Given the description of an element on the screen output the (x, y) to click on. 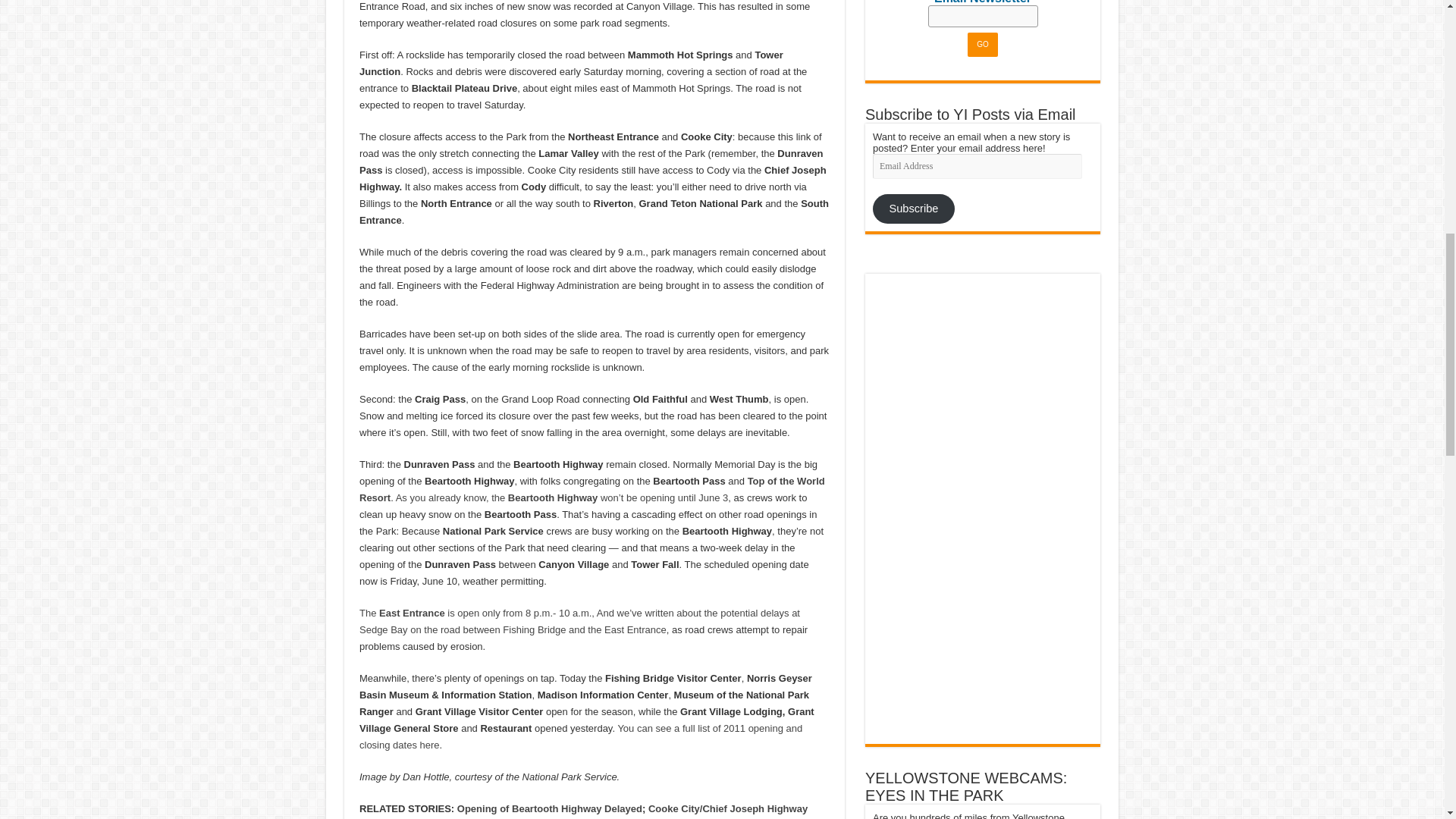
GO (982, 44)
